Given the description of an element on the screen output the (x, y) to click on. 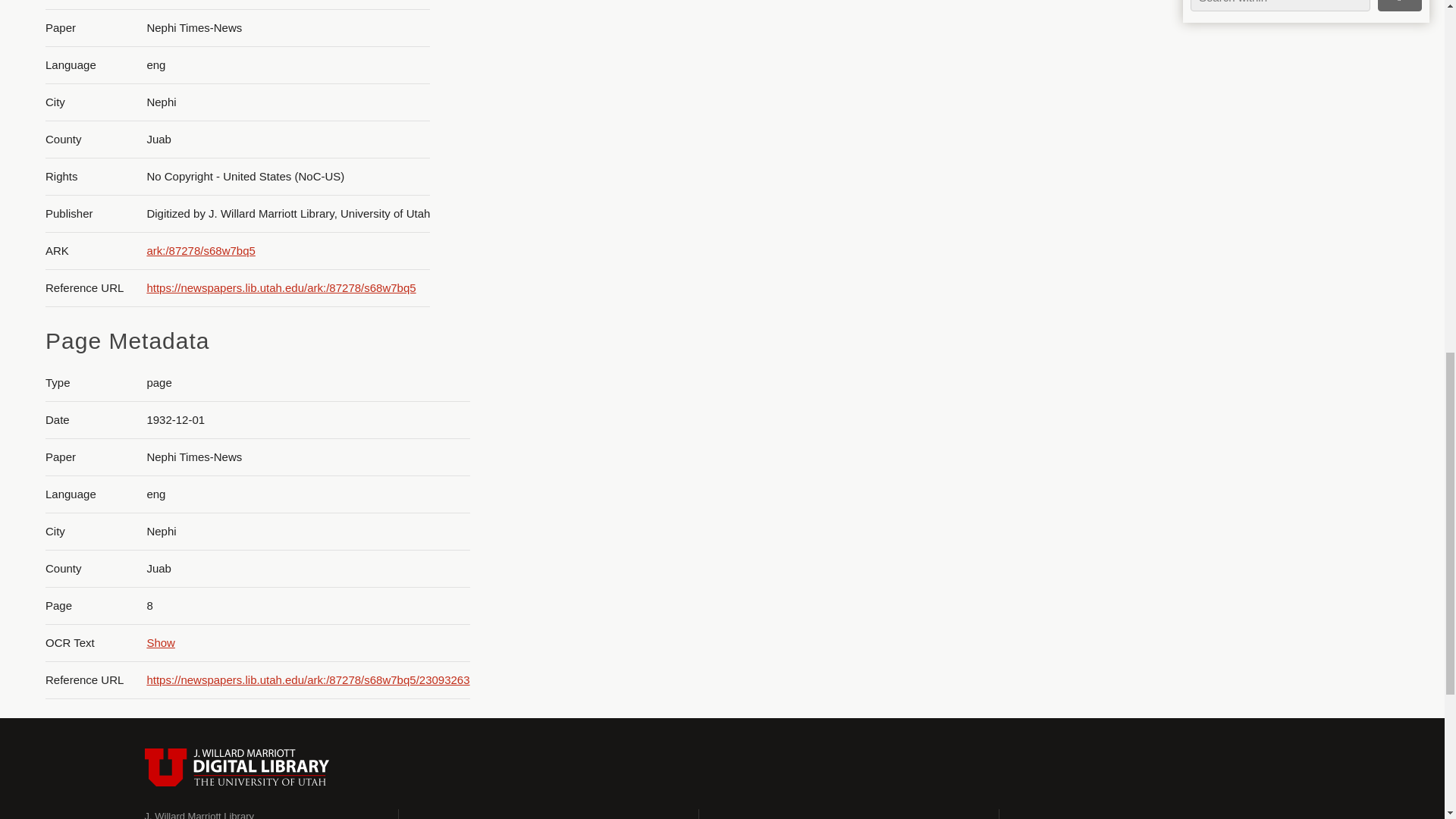
Page 6 (1299, 44)
Page 8 (1299, 264)
Show (160, 642)
J. Willard Marriott Library (198, 814)
Page 7 (1299, 148)
